Given the description of an element on the screen output the (x, y) to click on. 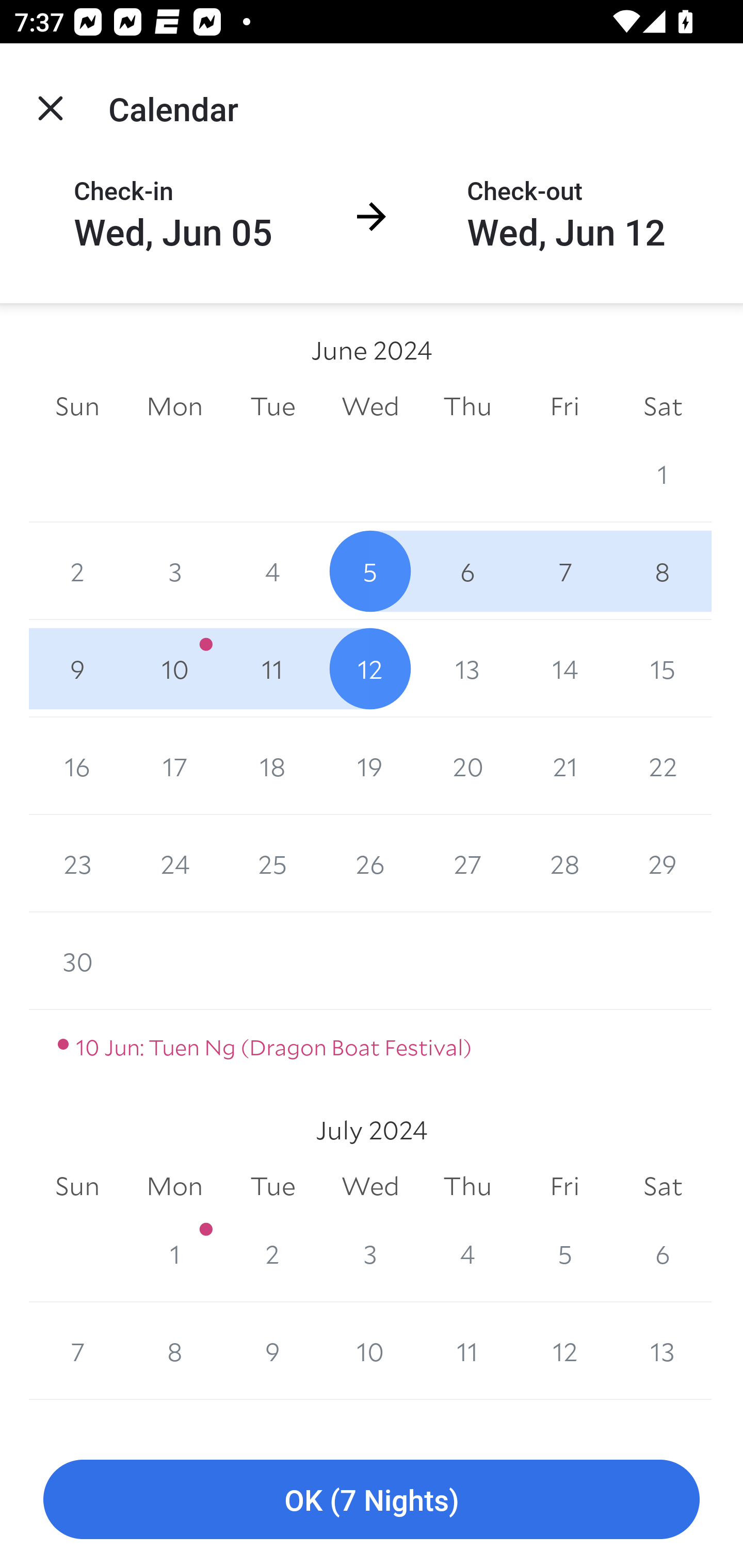
Sun (77, 405)
Mon (174, 405)
Tue (272, 405)
Wed (370, 405)
Thu (467, 405)
Fri (564, 405)
Sat (662, 405)
1 1 June 2024 (662, 473)
2 2 June 2024 (77, 570)
3 3 June 2024 (174, 570)
4 4 June 2024 (272, 570)
5 5 June 2024 (370, 570)
6 6 June 2024 (467, 570)
7 7 June 2024 (564, 570)
8 8 June 2024 (662, 570)
9 9 June 2024 (77, 668)
10 10 June 2024 (174, 668)
11 11 June 2024 (272, 668)
12 12 June 2024 (370, 668)
13 13 June 2024 (467, 668)
14 14 June 2024 (564, 668)
15 15 June 2024 (662, 668)
16 16 June 2024 (77, 766)
17 17 June 2024 (174, 766)
18 18 June 2024 (272, 766)
19 19 June 2024 (370, 766)
20 20 June 2024 (467, 766)
21 21 June 2024 (564, 766)
22 22 June 2024 (662, 766)
23 23 June 2024 (77, 863)
24 24 June 2024 (174, 863)
25 25 June 2024 (272, 863)
26 26 June 2024 (370, 863)
27 27 June 2024 (467, 863)
28 28 June 2024 (564, 863)
29 29 June 2024 (662, 863)
30 30 June 2024 (77, 960)
Sun (77, 1186)
Mon (174, 1186)
Tue (272, 1186)
Wed (370, 1186)
Thu (467, 1186)
Fri (564, 1186)
Sat (662, 1186)
1 1 July 2024 (174, 1253)
2 2 July 2024 (272, 1253)
3 3 July 2024 (370, 1253)
4 4 July 2024 (467, 1253)
5 5 July 2024 (564, 1253)
